Given the description of an element on the screen output the (x, y) to click on. 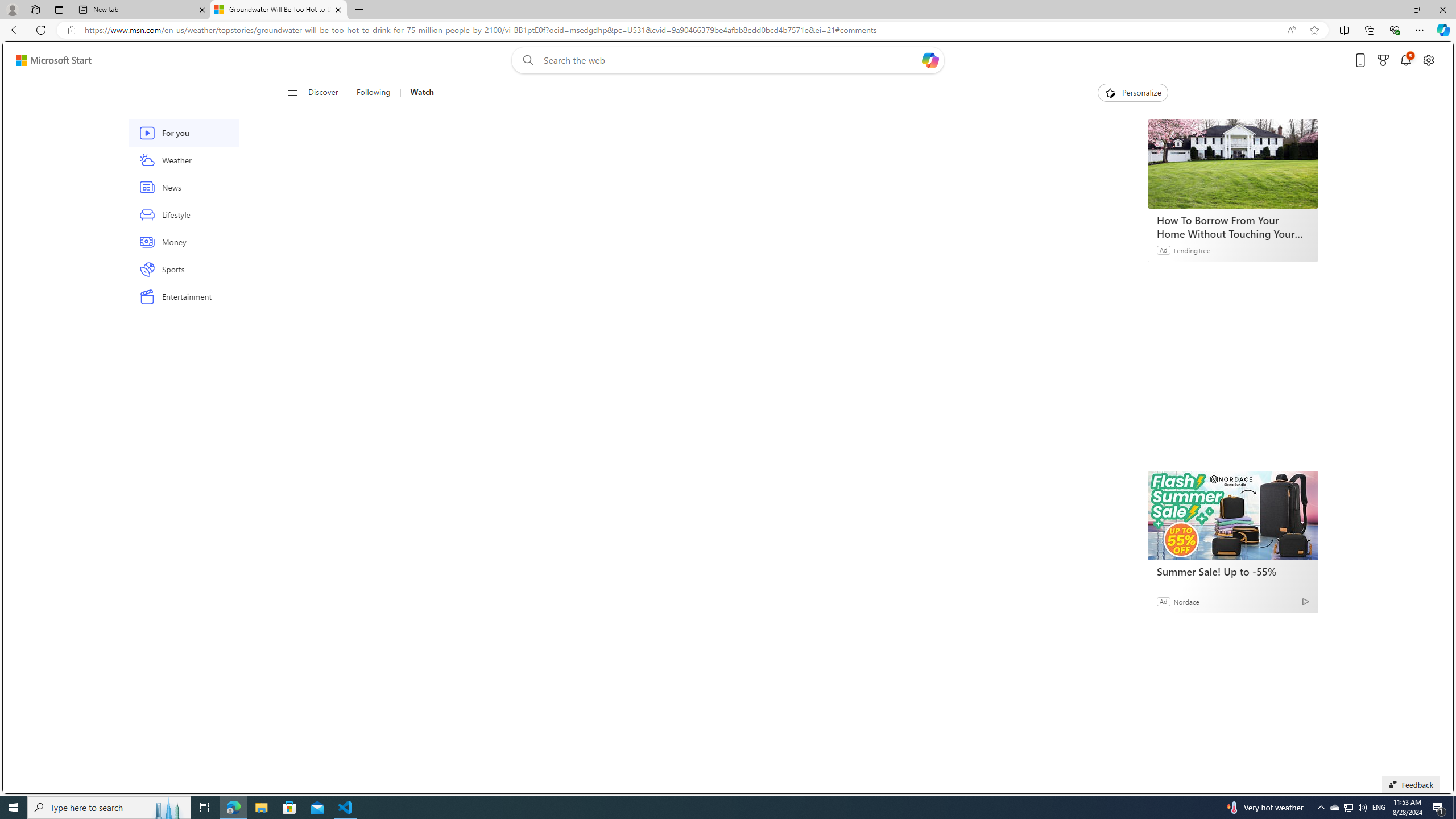
Skip to content (49, 59)
Summer Sale! Up to -55% (1232, 571)
To get missing image descriptions, open the context menu. (1109, 92)
LendingTree (1192, 249)
